Given the description of an element on the screen output the (x, y) to click on. 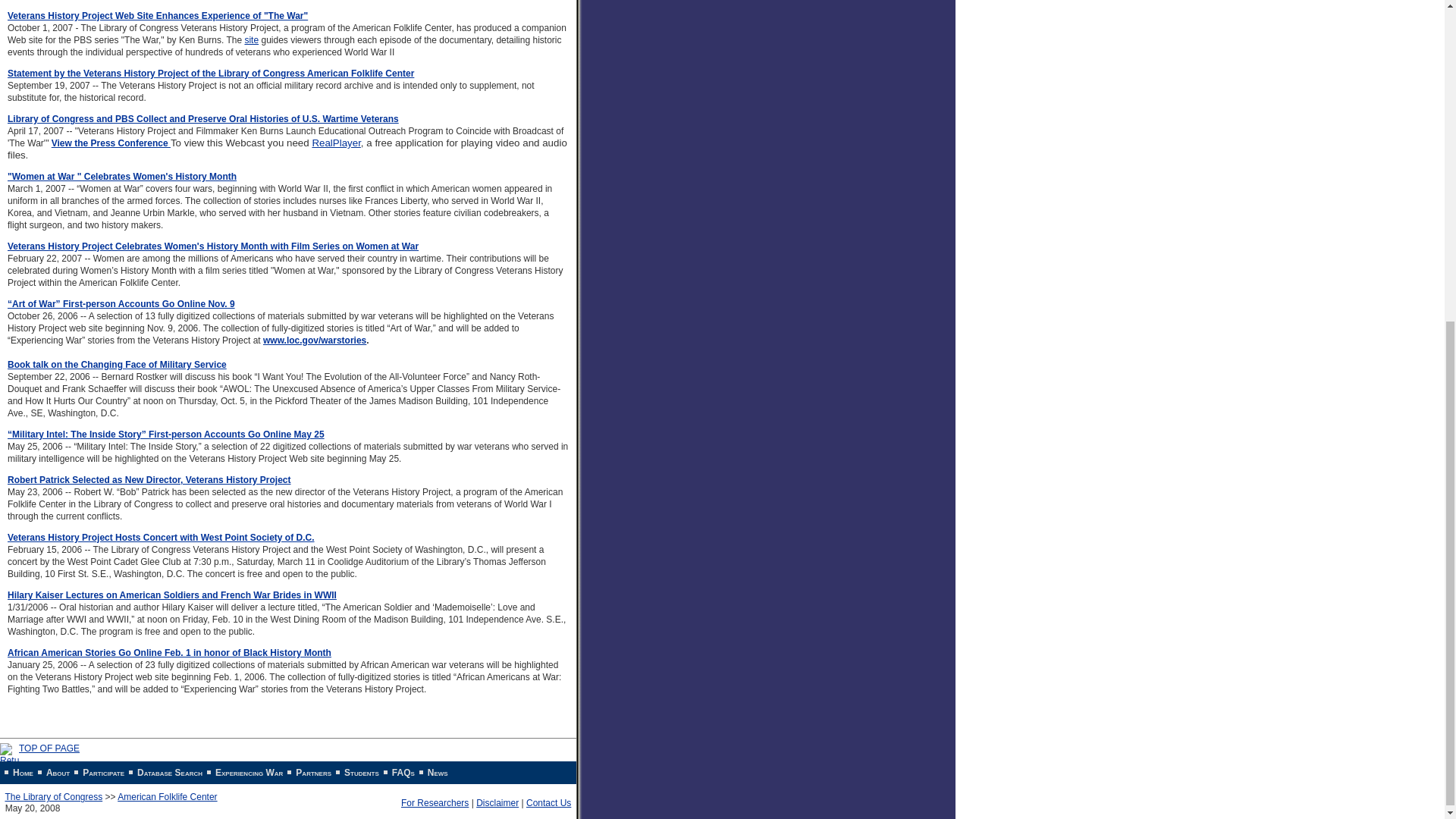
Book talk on the Changing Face of Military Service (117, 370)
site (251, 40)
View the Press Conference (110, 143)
"Women at War " Celebrates Women's History Month (121, 176)
